Given the description of an element on the screen output the (x, y) to click on. 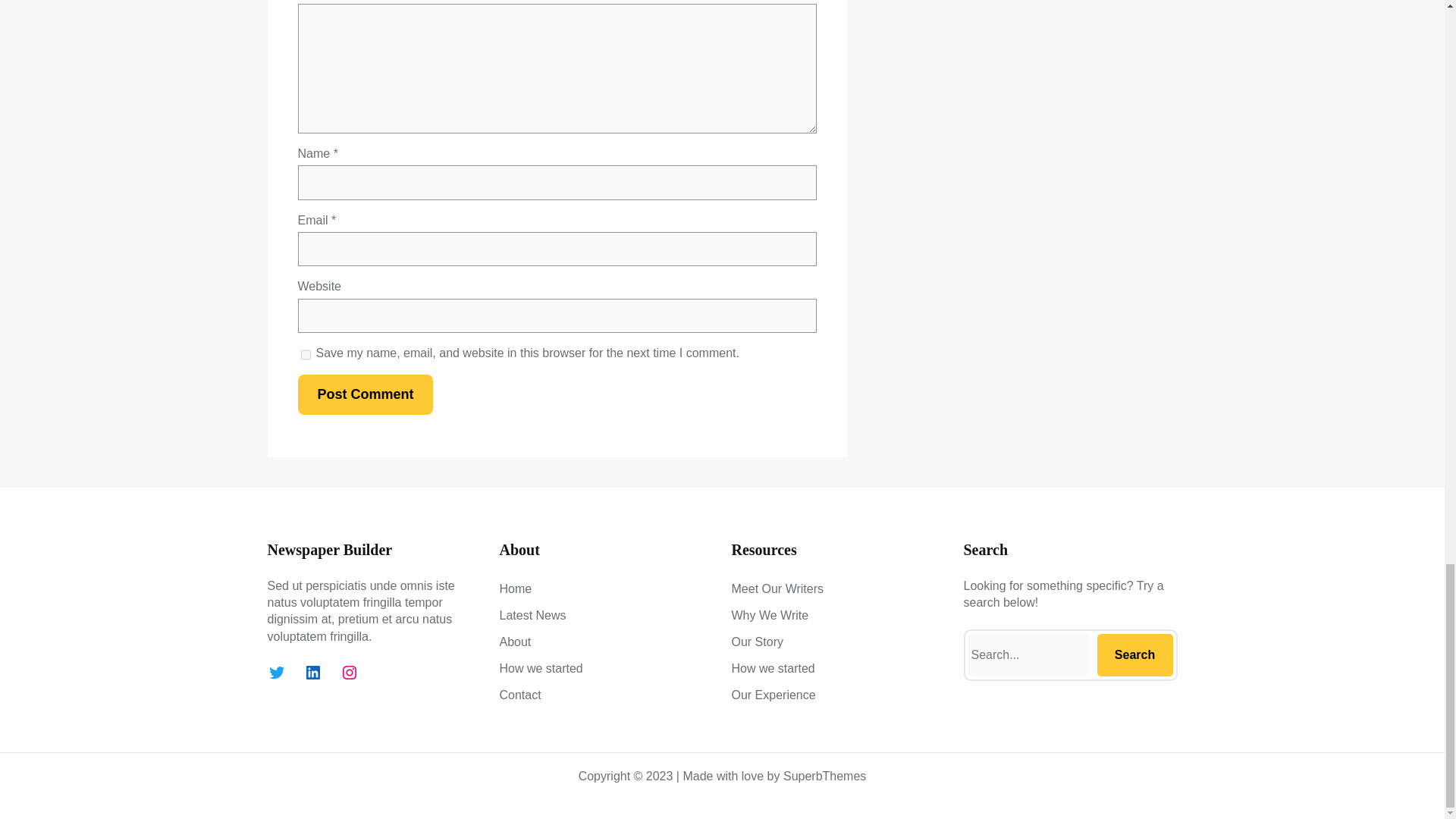
Latest News (532, 615)
How we started (540, 668)
Home (515, 589)
Twitter (275, 672)
How we started (771, 668)
Post Comment (364, 394)
yes (304, 354)
LinkedIn (311, 672)
Meet Our Writers (777, 589)
Our Experience (772, 694)
Post Comment (364, 394)
Why We Write (769, 615)
Our Story (756, 641)
Contact (519, 694)
Instagram (348, 672)
